Given the description of an element on the screen output the (x, y) to click on. 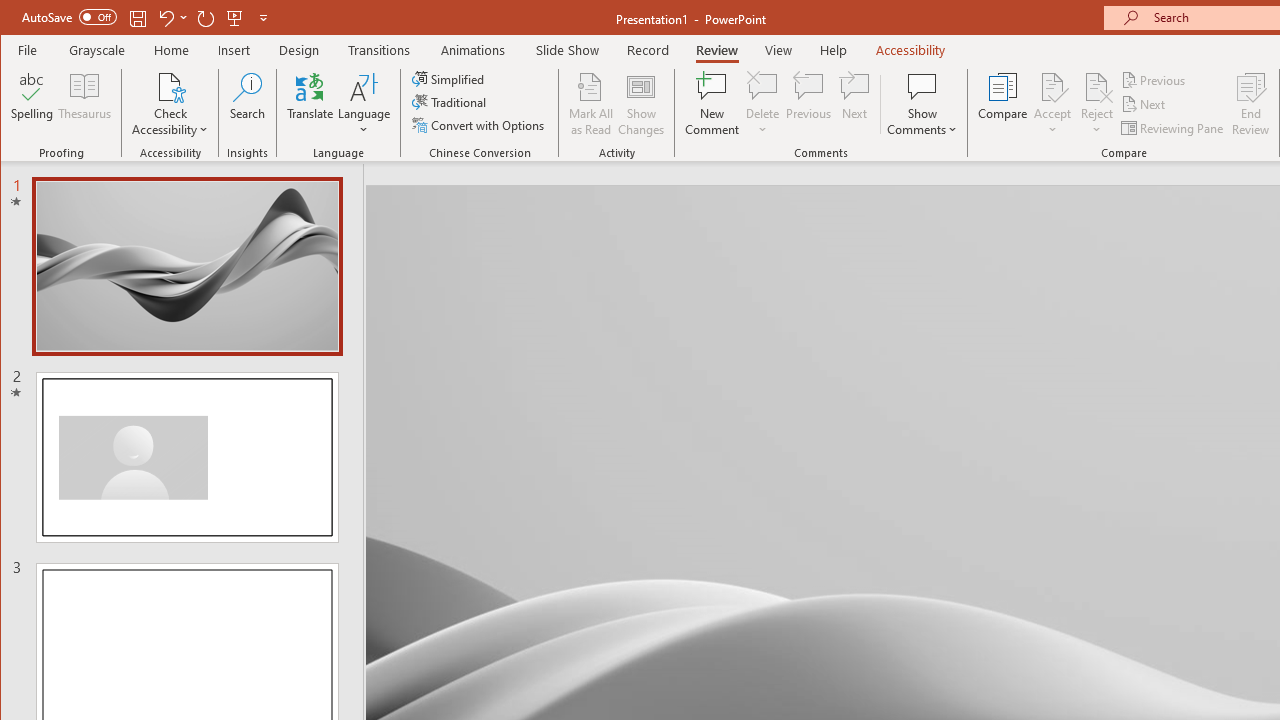
Accept (1052, 104)
New Comment (712, 104)
Previous (1154, 80)
